Given the description of an element on the screen output the (x, y) to click on. 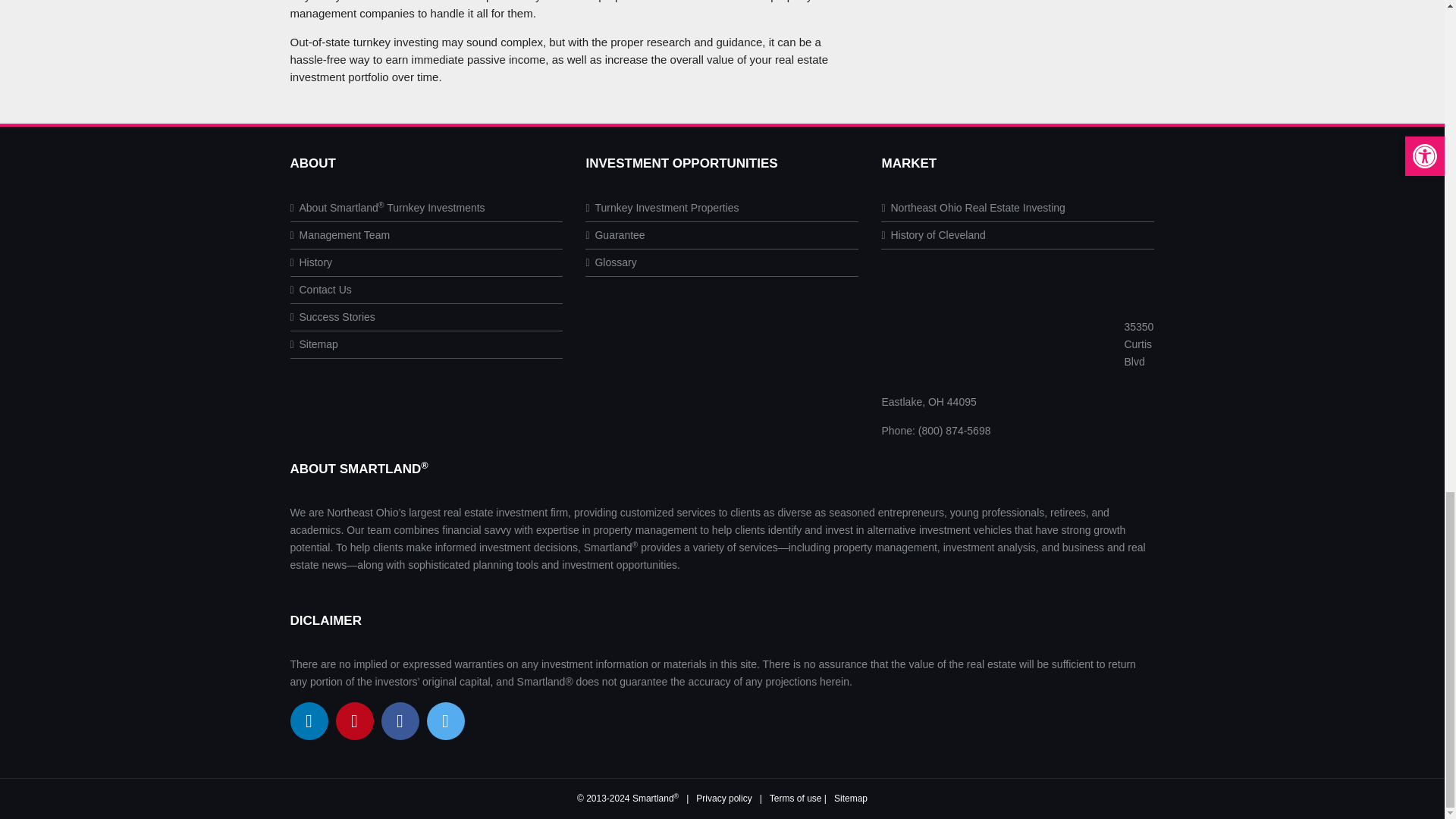
Management Team (339, 234)
Success Stories (331, 316)
History (310, 262)
Contact Us (319, 289)
